Given the description of an element on the screen output the (x, y) to click on. 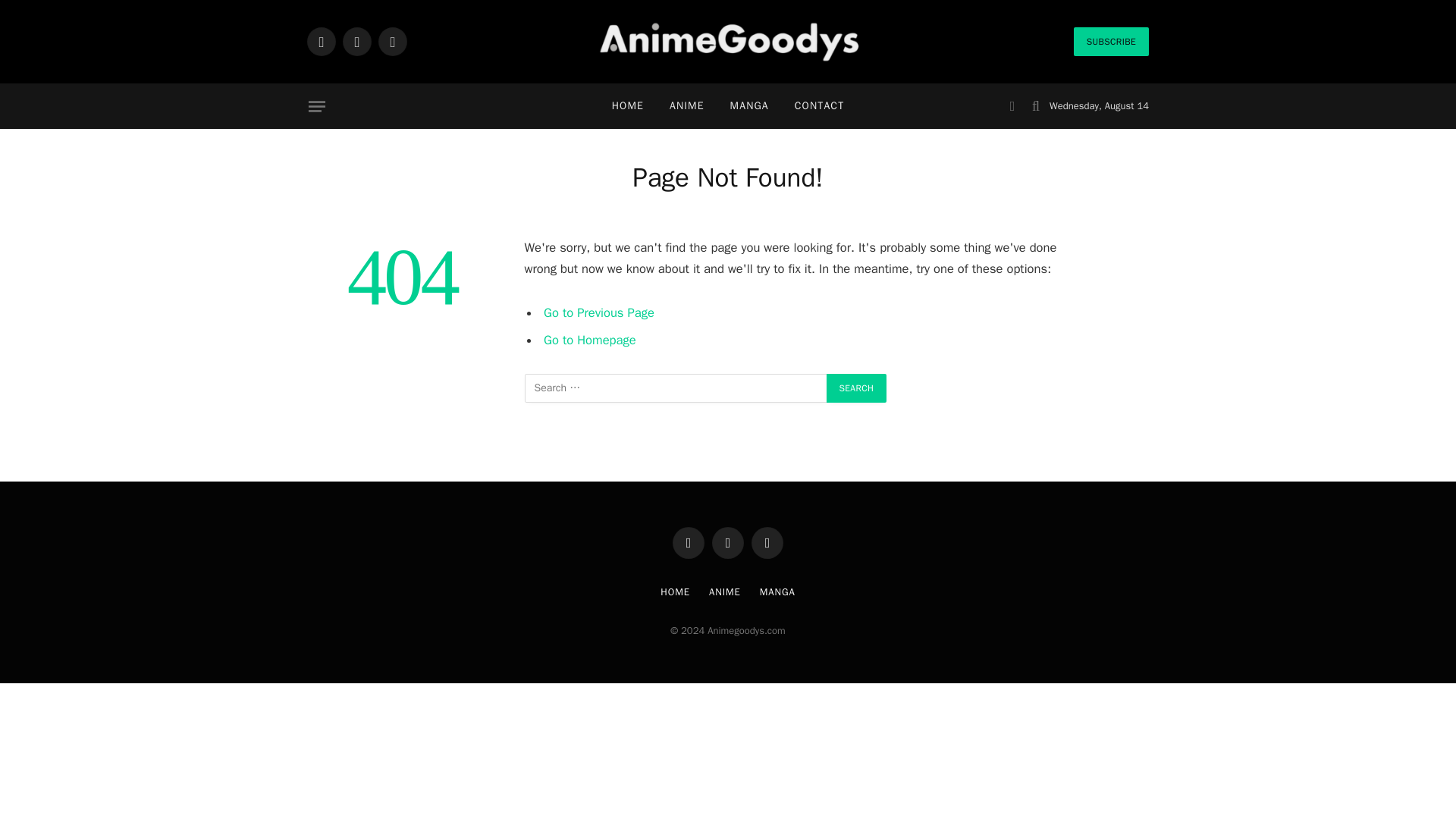
Instagram (392, 41)
Switch to Dark Design - easier on eyes. (1012, 106)
ANIME (725, 591)
SUBSCRIBE (1111, 41)
Facebook (321, 41)
ANIME (686, 105)
Search (856, 387)
Search (856, 387)
Animegoodys.com (728, 41)
MANGA (749, 105)
